Given the description of an element on the screen output the (x, y) to click on. 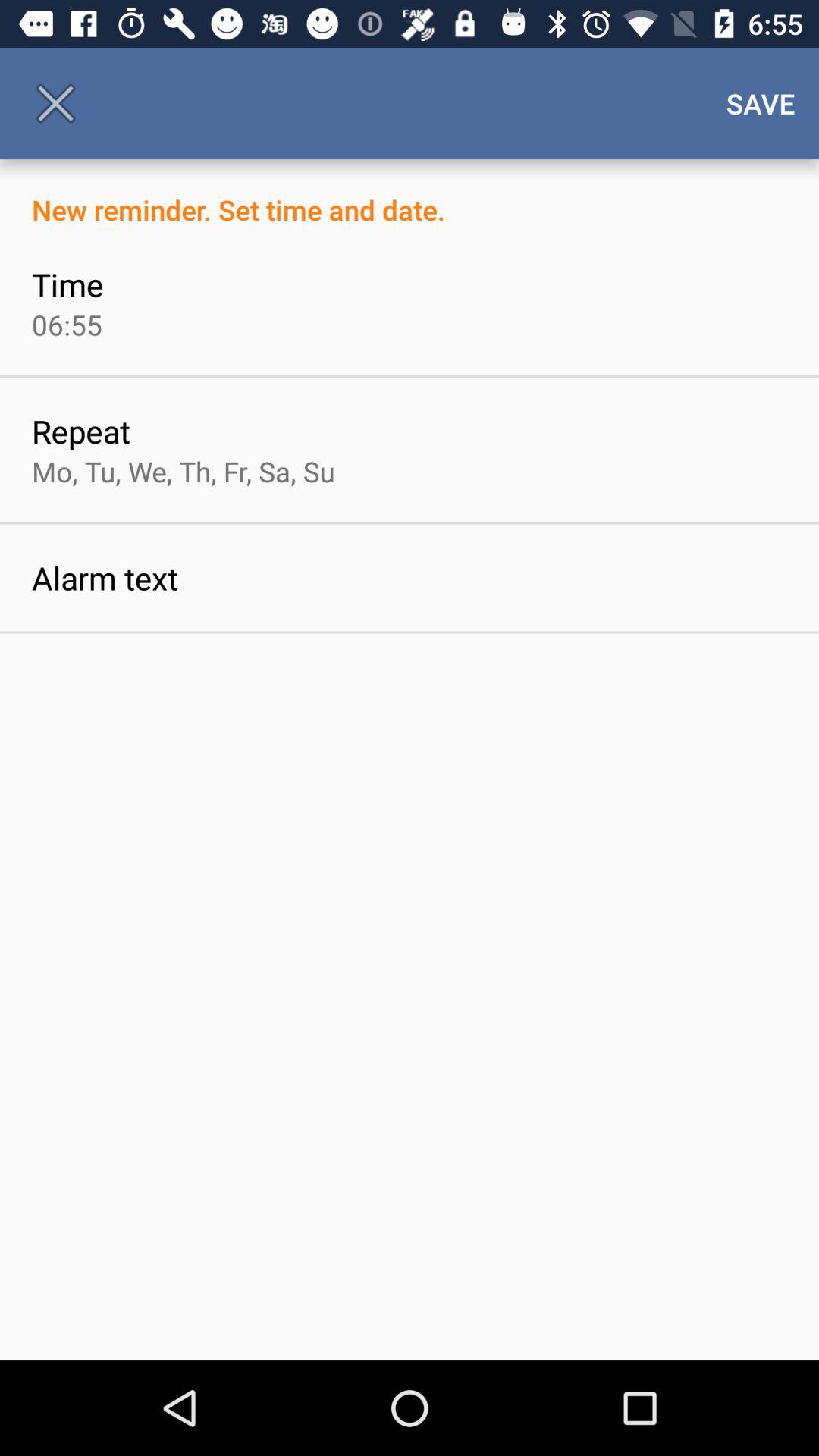
click the icon above the time item (409, 193)
